Given the description of an element on the screen output the (x, y) to click on. 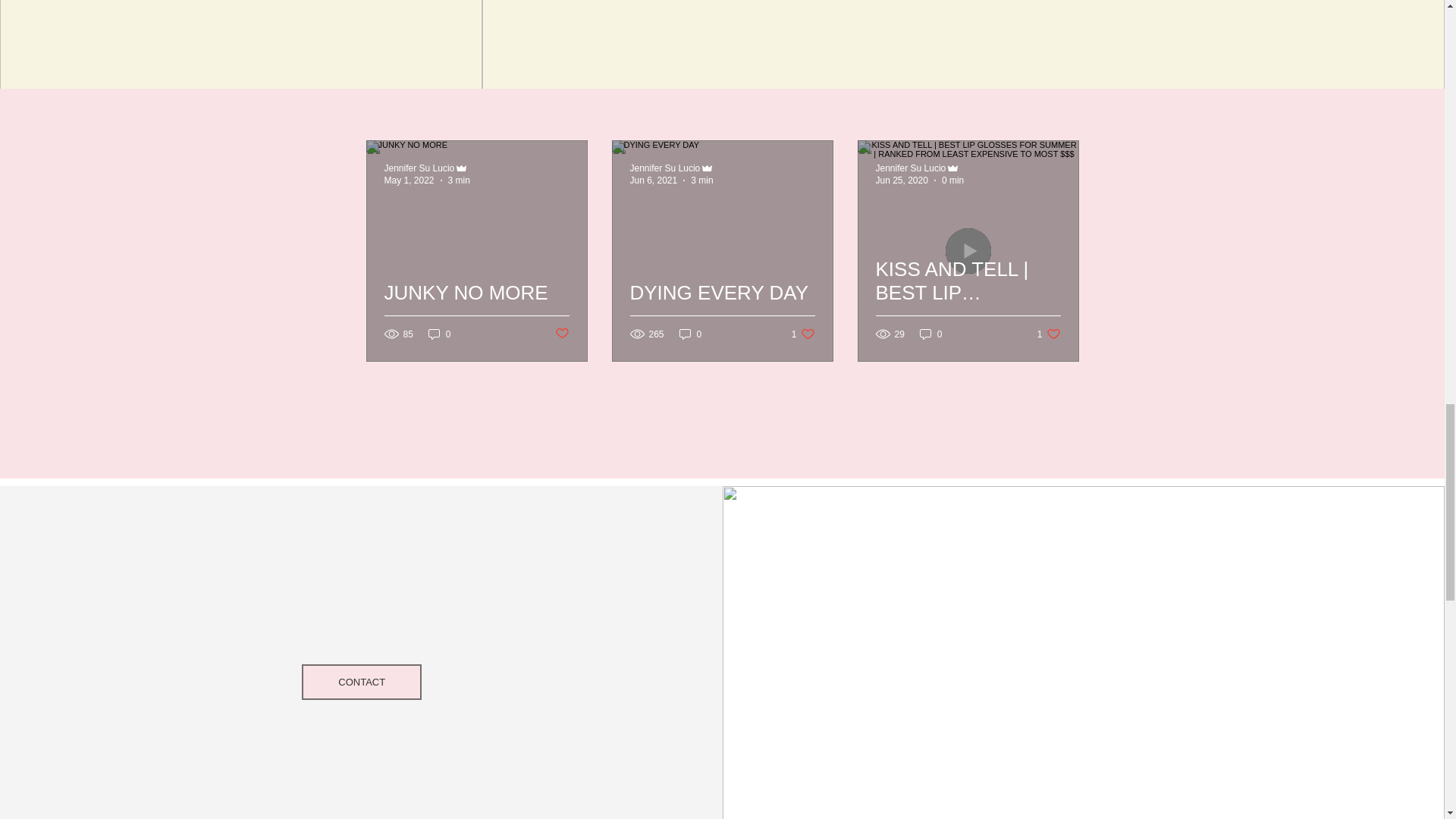
JUNKY NO MORE (476, 310)
0 min (952, 180)
CONTACT (803, 333)
0 (361, 682)
Jun 6, 2021 (930, 333)
DYING EVERY DAY (652, 180)
Post not marked as liked (720, 310)
3 min (561, 333)
Jennifer Su Lucio (459, 180)
